Given the description of an element on the screen output the (x, y) to click on. 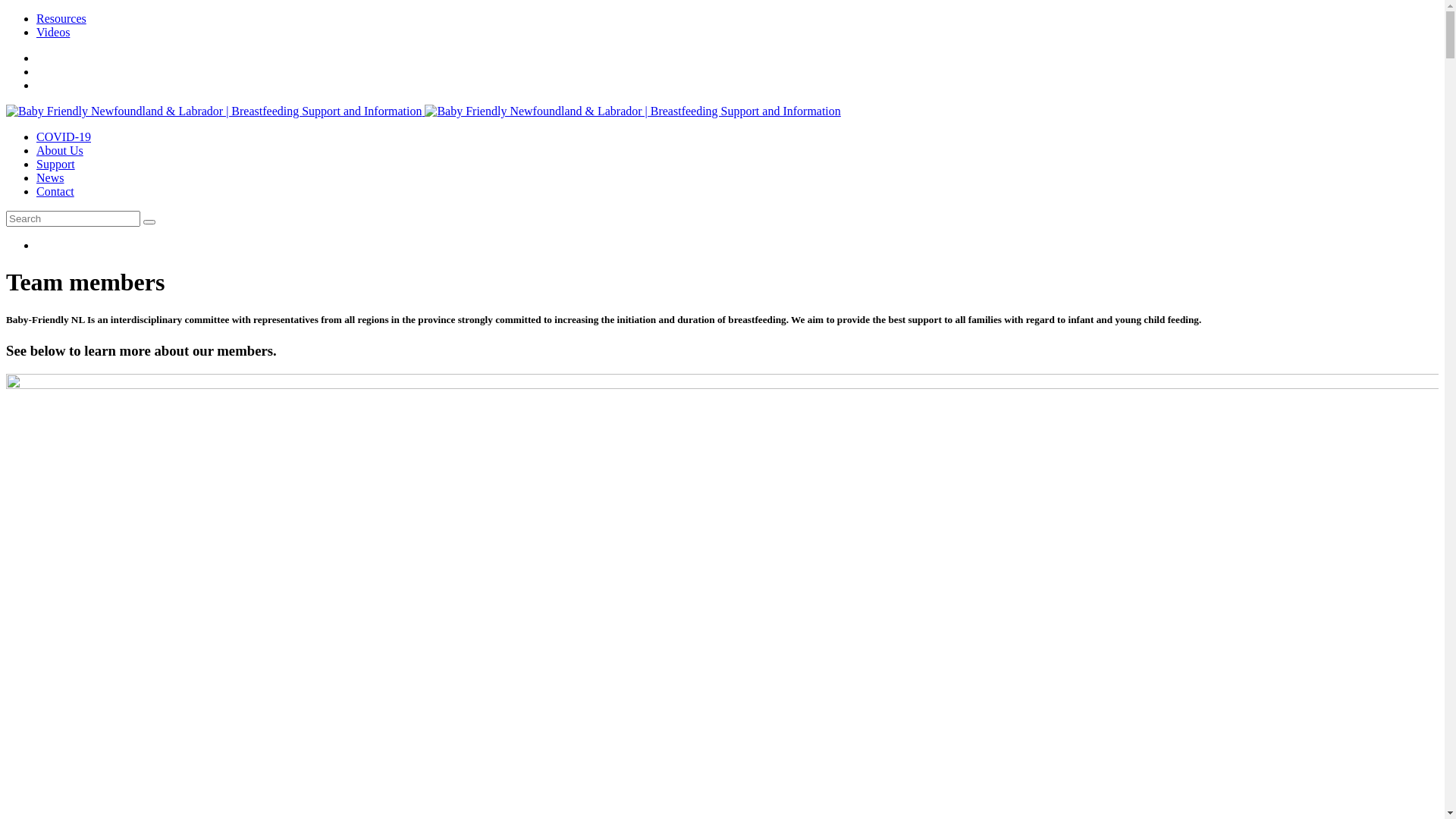
COVID-19 Element type: text (63, 136)
Contact Element type: text (55, 191)
About Us Element type: text (59, 150)
Videos Element type: text (52, 31)
Search for: Element type: hover (73, 218)
Support Element type: text (55, 163)
News Element type: text (49, 177)
Resources Element type: text (61, 18)
